Given the description of an element on the screen output the (x, y) to click on. 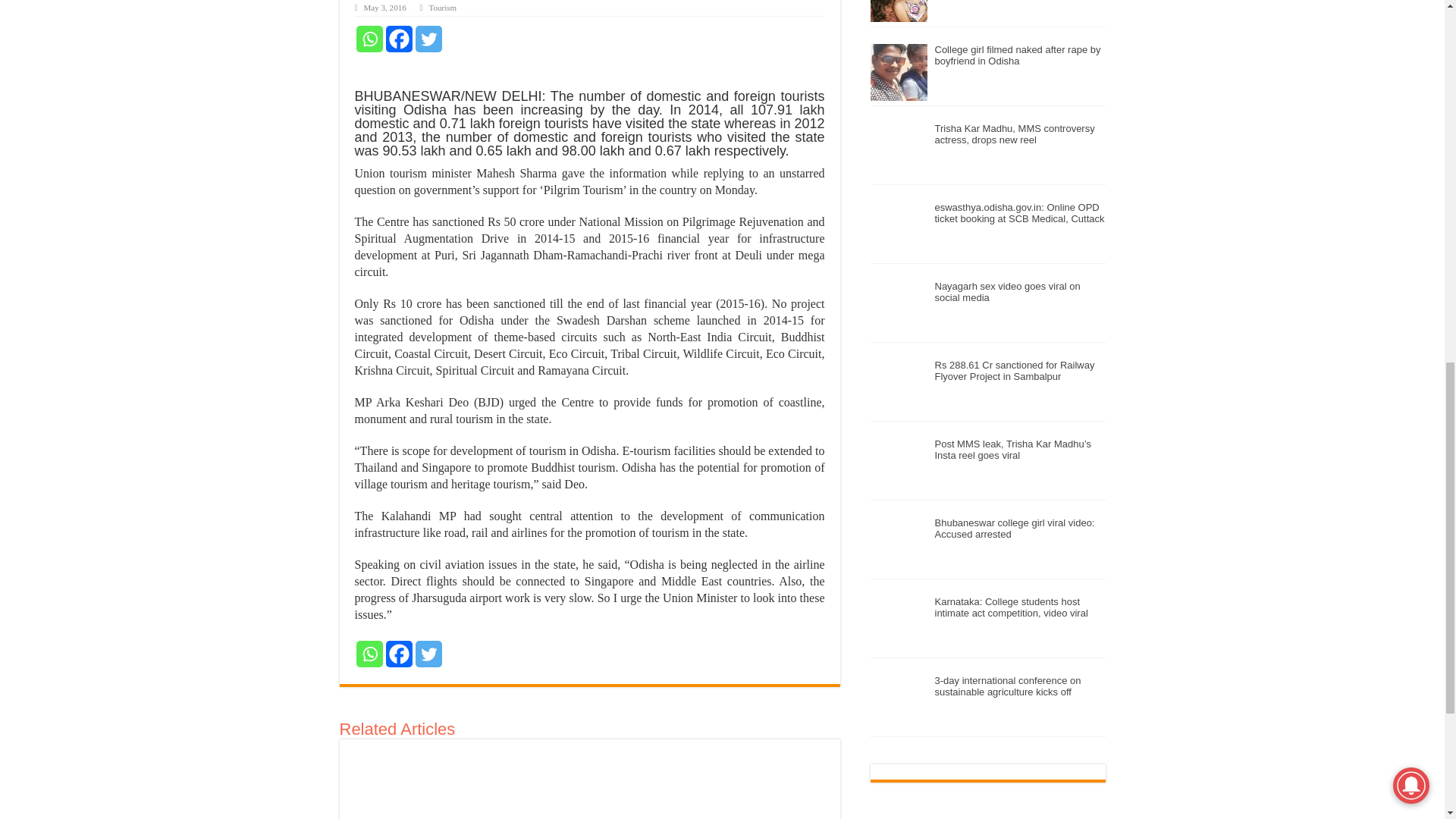
Tourism (443, 7)
Facebook (398, 653)
Twitter (428, 38)
Twitter (428, 653)
Facebook (398, 38)
Whatsapp (369, 653)
Whatsapp (369, 38)
